Given the description of an element on the screen output the (x, y) to click on. 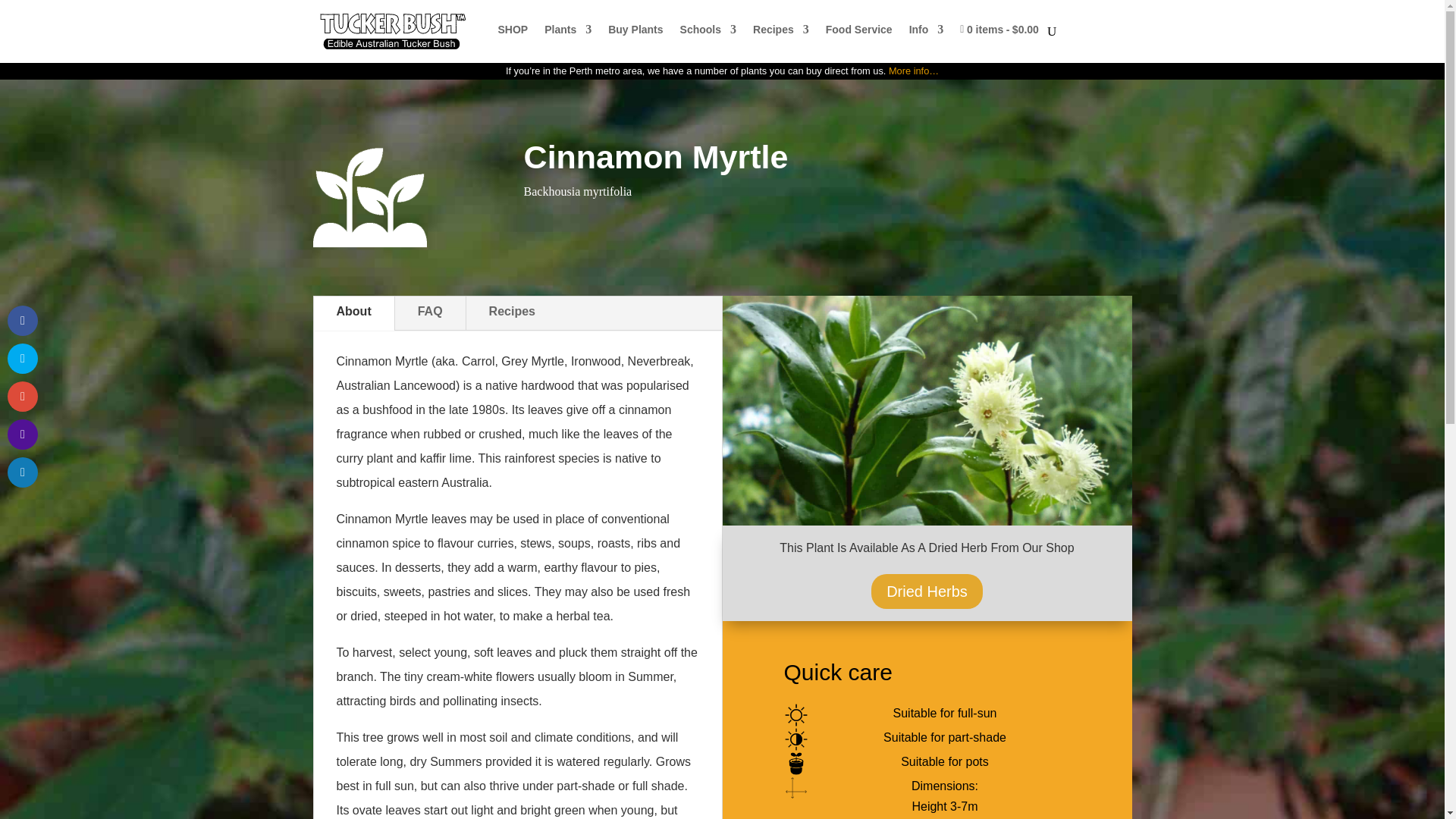
Recipes (780, 29)
Schools (707, 29)
Buy Plants (635, 29)
Start shopping (999, 29)
Food Service (858, 29)
